Given the description of an element on the screen output the (x, y) to click on. 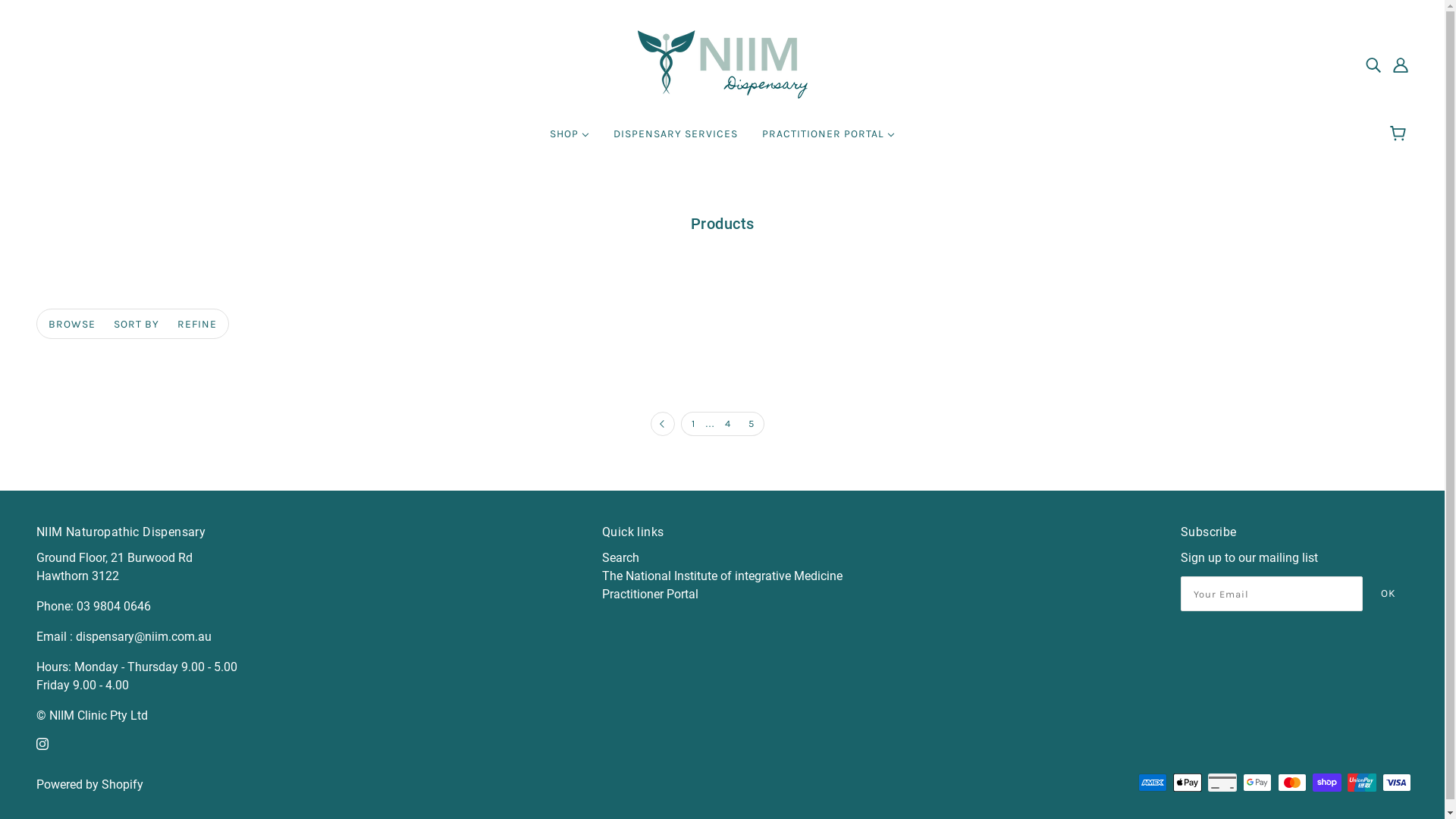
The National Institute of integrative Medicine Element type: text (722, 575)
Practitioner Portal Element type: text (650, 593)
Search Element type: text (620, 557)
OK Element type: text (1388, 593)
PRACTITIONER PORTAL Element type: text (827, 139)
5 Element type: text (751, 423)
NIIM Dispensary Element type: hover (721, 63)
DISPENSARY SERVICES Element type: text (675, 139)
Powered by Shopify Element type: text (89, 784)
SHOP Element type: text (569, 139)
1 Element type: text (692, 423)
4 Element type: text (727, 423)
